Given the description of an element on the screen output the (x, y) to click on. 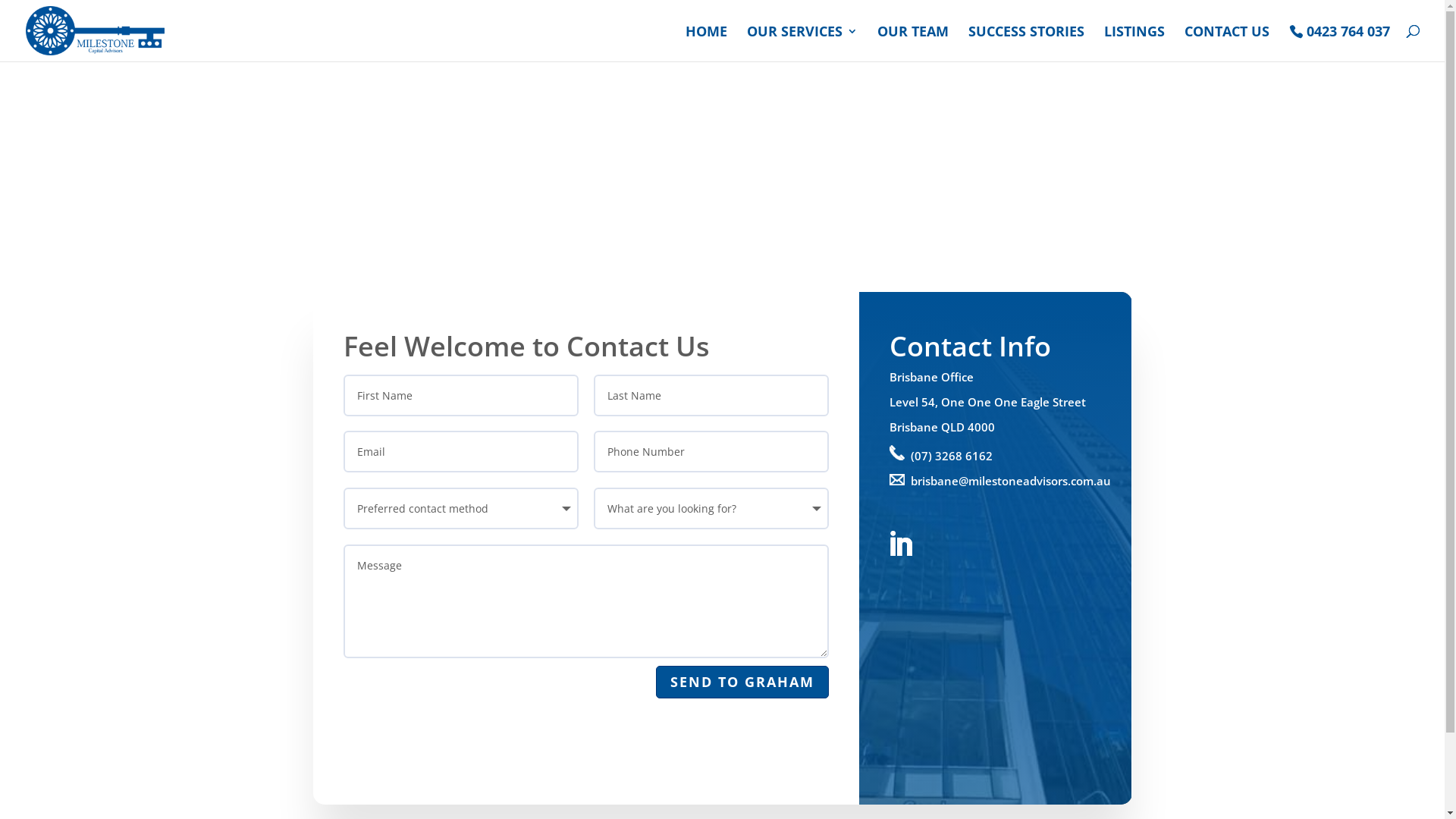
OUR TEAM Element type: text (912, 43)
LISTINGS Element type: text (1134, 43)
SUCCESS STORIES Element type: text (1026, 43)
OUR SERVICES Element type: text (801, 43)
CONTACT US Element type: text (1226, 43)
HOME Element type: text (706, 43)
SEND TO GRAHAM Element type: text (741, 681)
Follow on LinkedIn Element type: hover (899, 544)
0423 764 037 Element type: text (1339, 43)
